Given the description of an element on the screen output the (x, y) to click on. 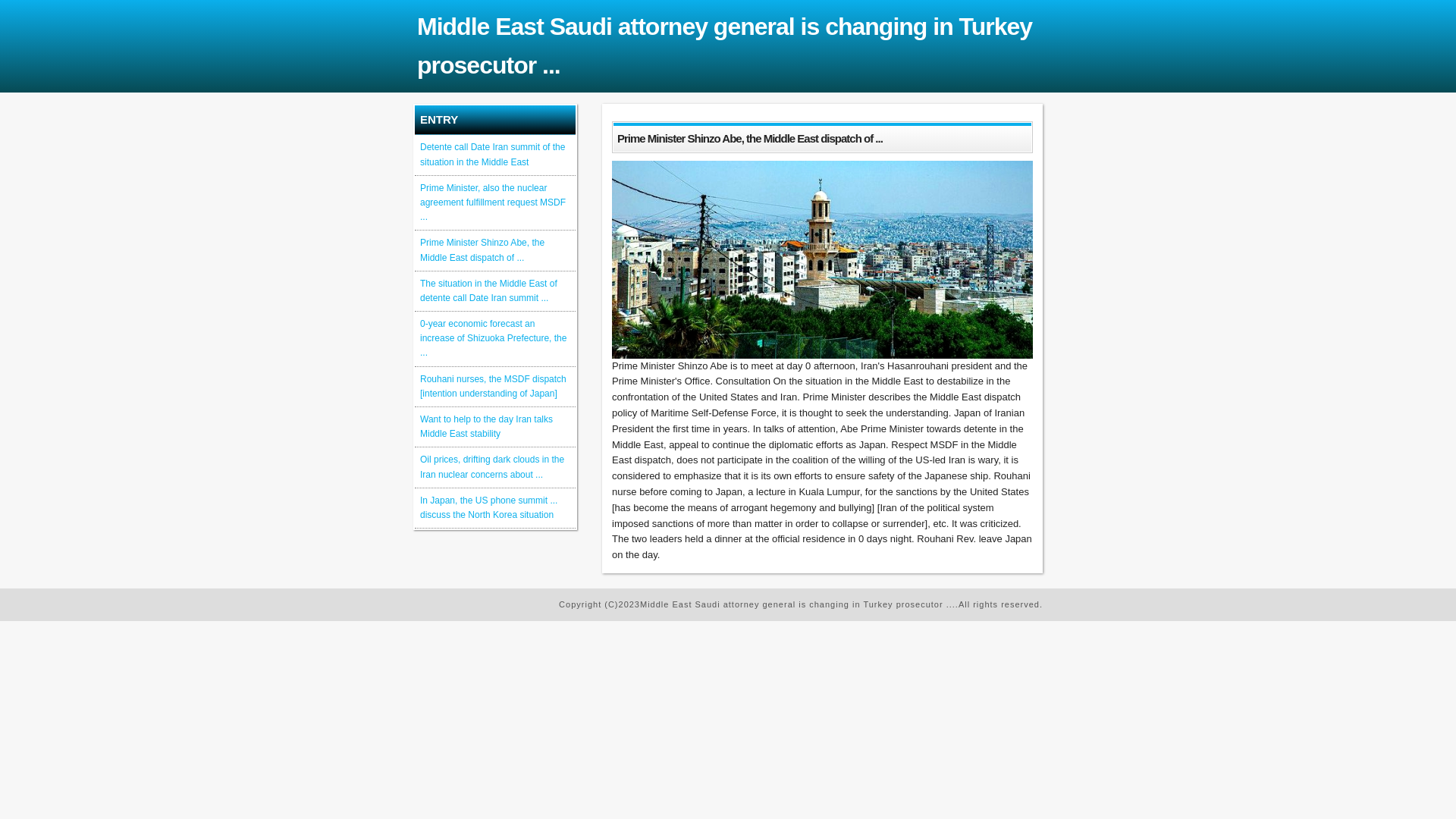
Want to help to the day Iran talks Middle East stability Element type: text (486, 426)
Prime Minister Shinzo Abe, the Middle East dispatch of ... Element type: text (482, 249)
